Given the description of an element on the screen output the (x, y) to click on. 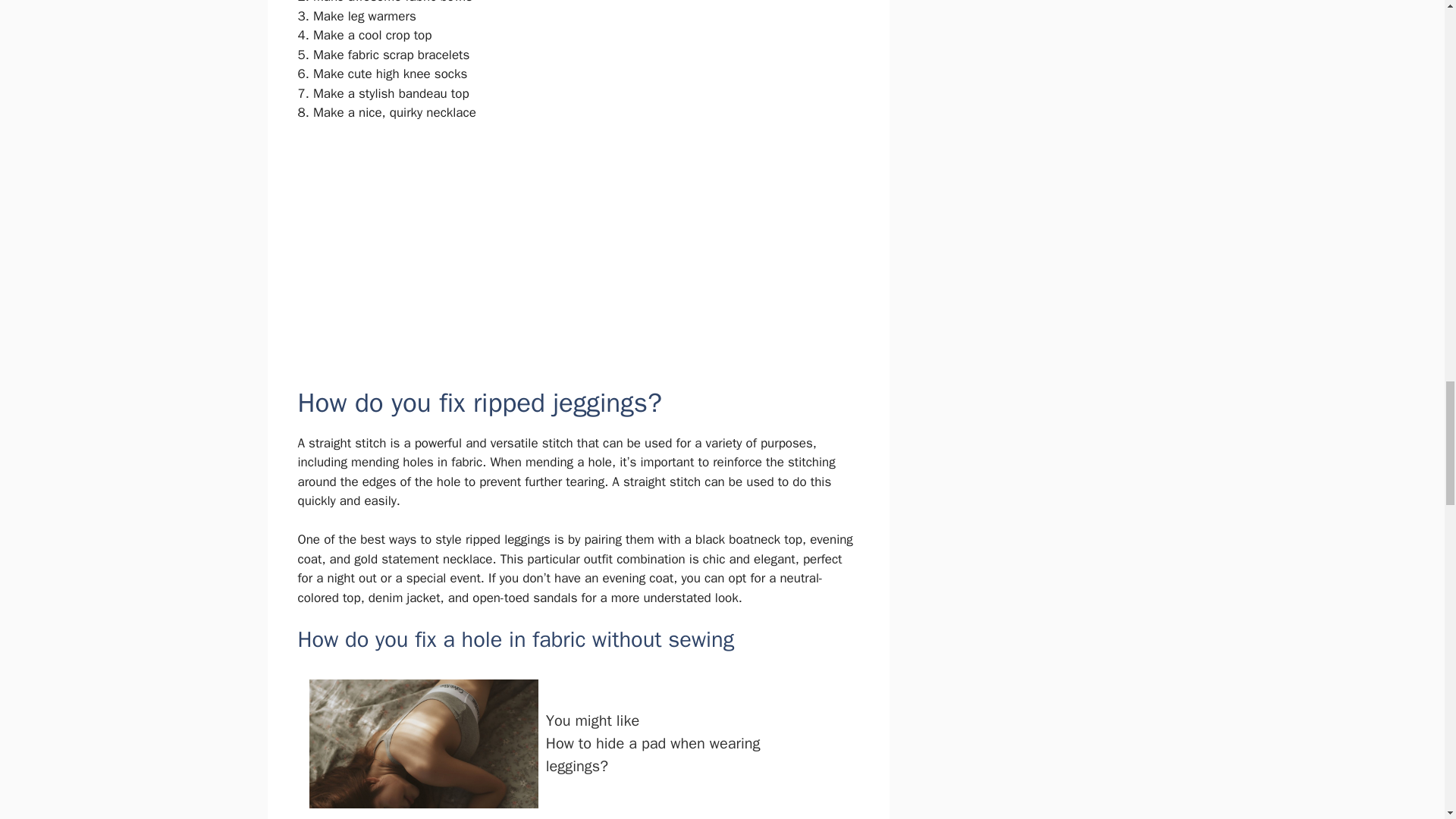
YouTube video player (578, 743)
How to patch hole in leggings? (509, 241)
